Given the description of an element on the screen output the (x, y) to click on. 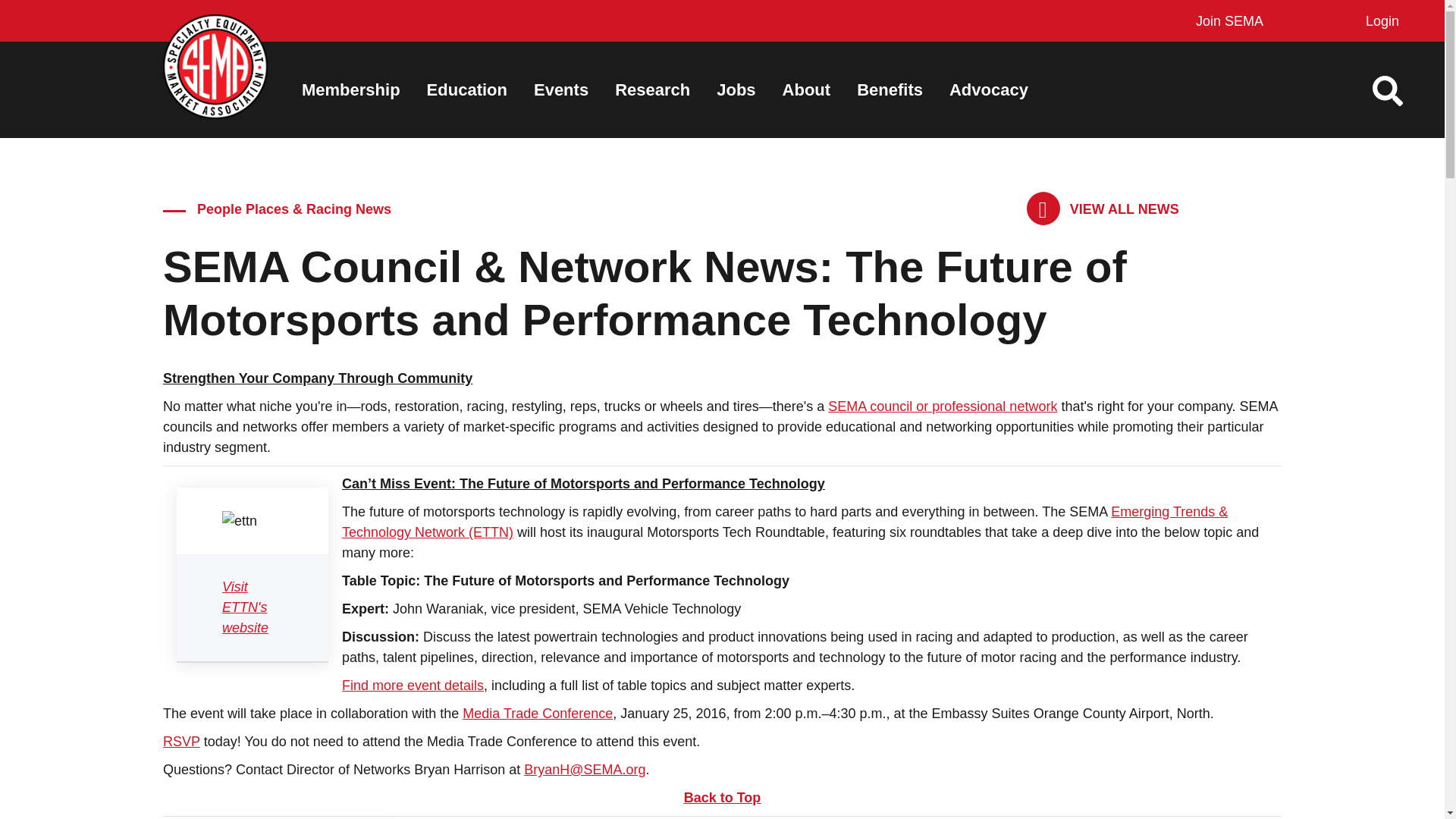
Research (652, 89)
Advocacy (988, 89)
Login (1378, 20)
RSVP (181, 741)
eNews archive (1102, 209)
Membership (350, 89)
Media Trade Conference (537, 713)
Education (466, 89)
Find more event details (412, 685)
ettn (239, 521)
